Given the description of an element on the screen output the (x, y) to click on. 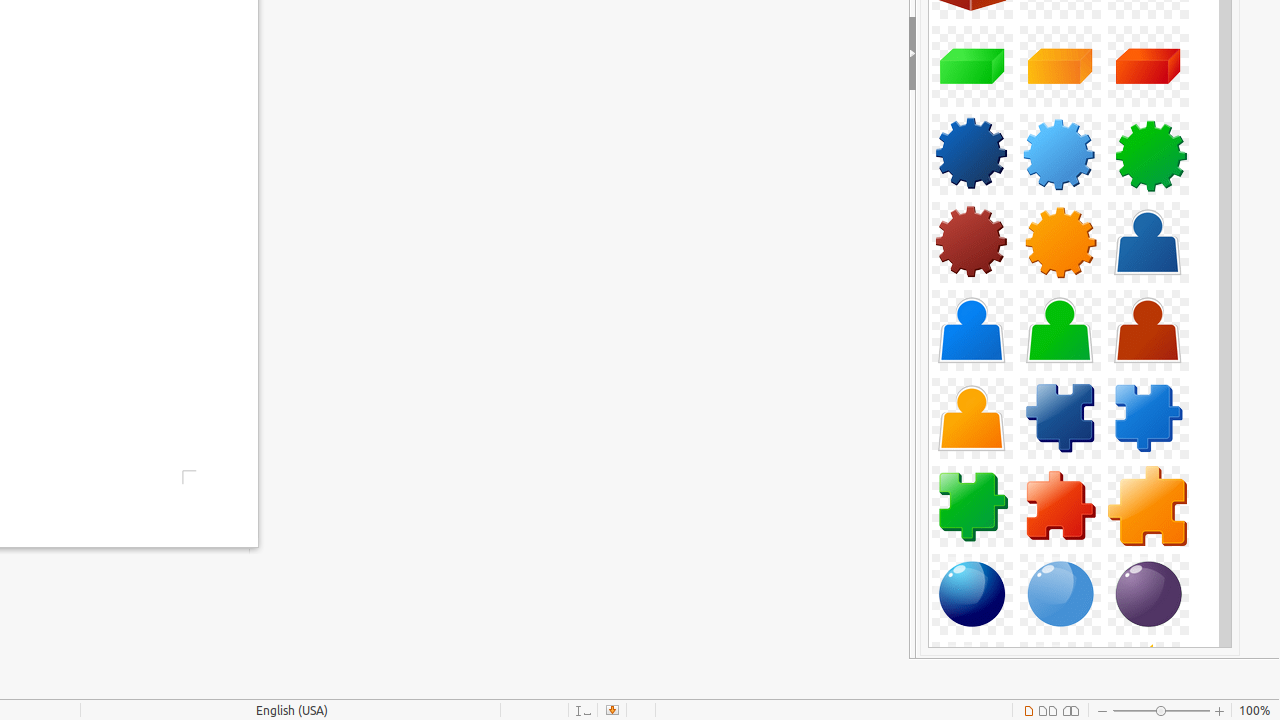
Component-Cuboid05-Red Element type: list-item (1148, 65)
Component-Sphere01-DarkBlue Element type: list-item (972, 594)
Component-Gear01-DarkBlue Element type: list-item (972, 154)
Component-Person04-DarkRed Element type: list-item (1148, 330)
Component-PuzzlePiece01-DarkBlue Element type: list-item (1060, 417)
